Given the description of an element on the screen output the (x, y) to click on. 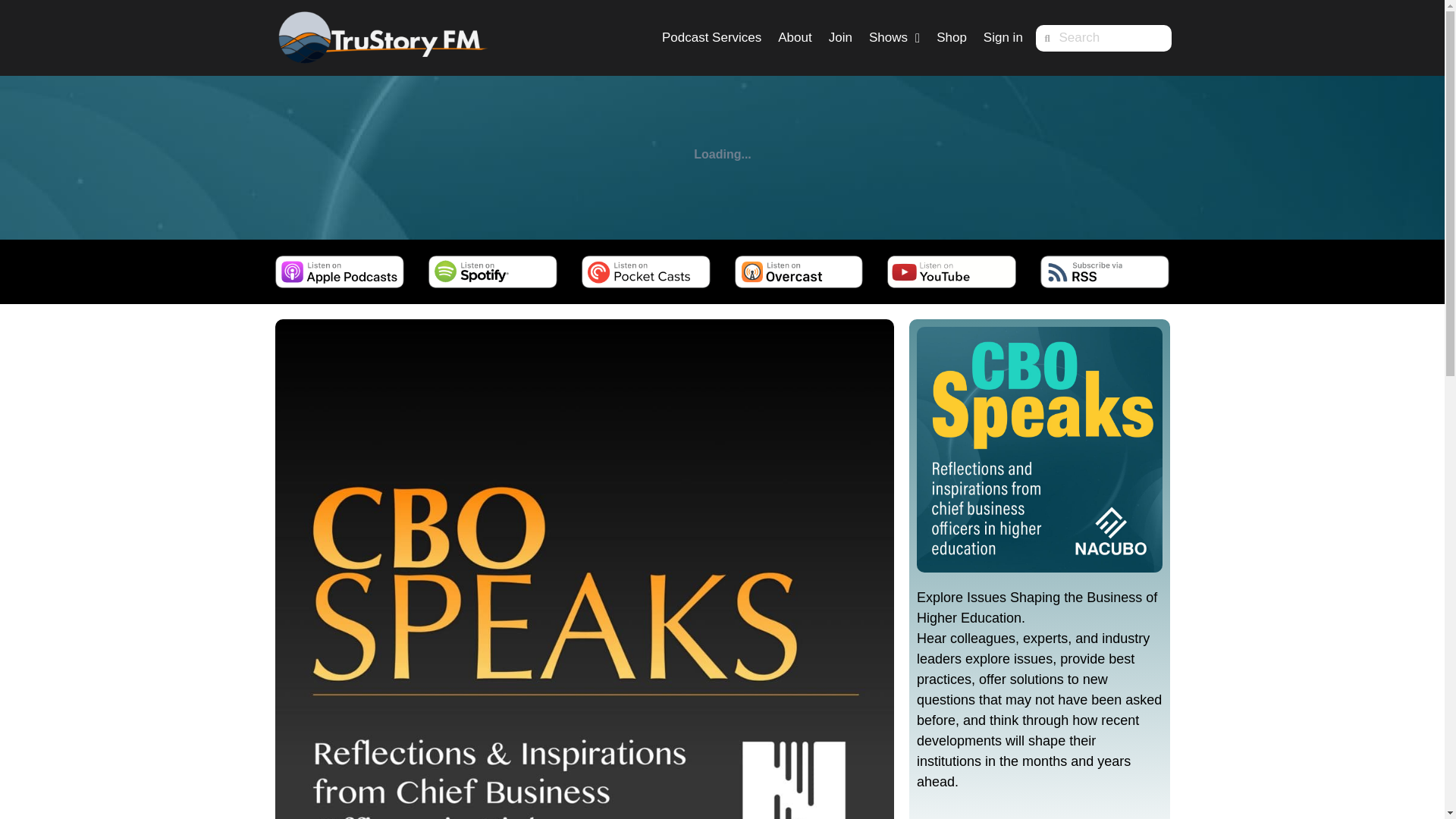
Shows (894, 38)
Podcast Services (711, 38)
